Given the description of an element on the screen output the (x, y) to click on. 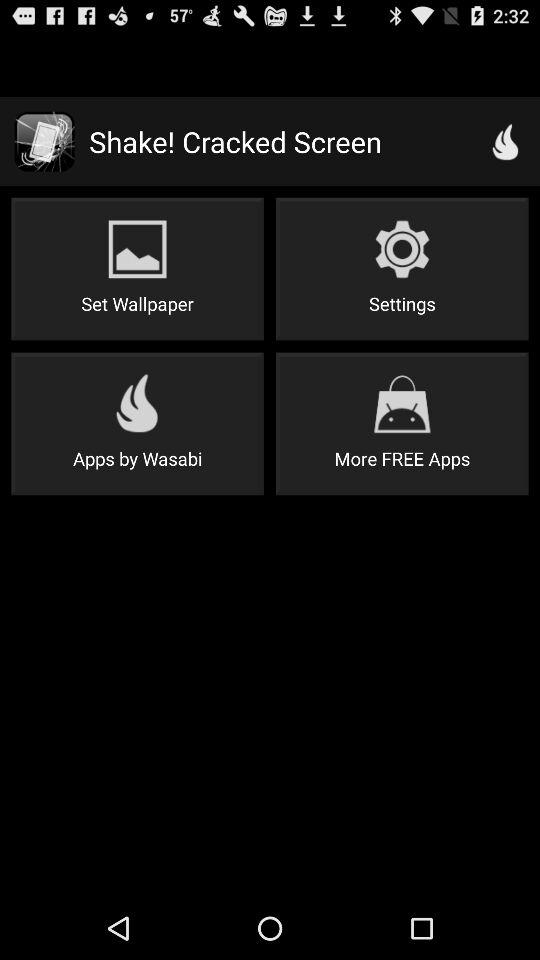
click icon below the shake! cracked screen (402, 268)
